Given the description of an element on the screen output the (x, y) to click on. 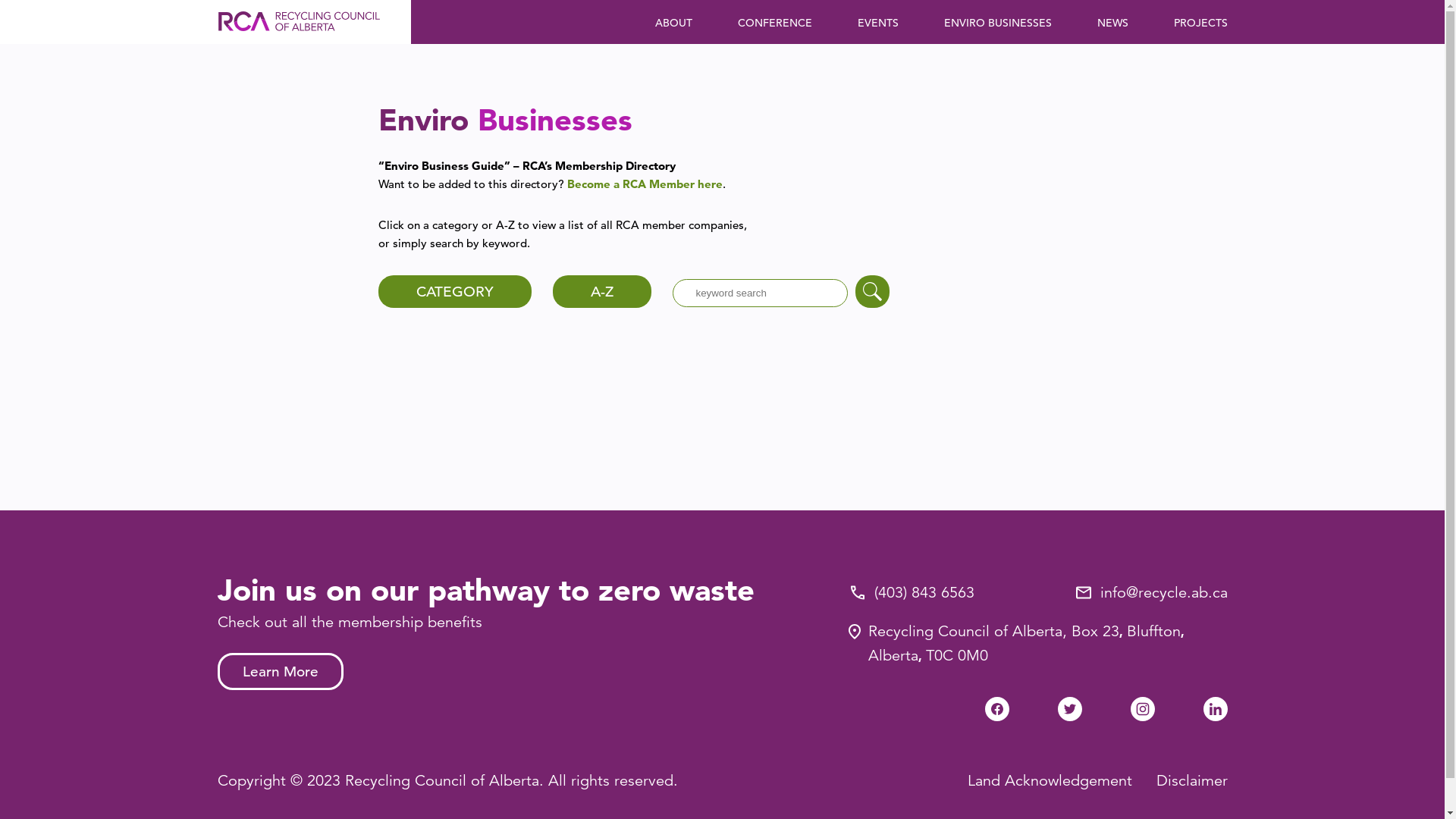
Land Acknowledgement Element type: text (1049, 780)
ABOUT Element type: text (673, 22)
Disclaimer Element type: text (1190, 780)
ENVIRO BUSINESSES Element type: text (997, 22)
  Element type: text (872, 291)
CONFERENCE Element type: text (774, 22)
NEWS Element type: text (1111, 22)
Learn More Element type: text (279, 671)
info@recycle.ab.ca Element type: text (1162, 592)
PROJECTS Element type: text (1200, 22)
Become a RCA Member here Element type: text (644, 183)
CATEGORY Element type: text (453, 291)
Recycling Council of Alberta Logo Element type: text (297, 21)
A-Z Element type: text (601, 291)
EVENTS Element type: text (876, 22)
